Given the description of an element on the screen output the (x, y) to click on. 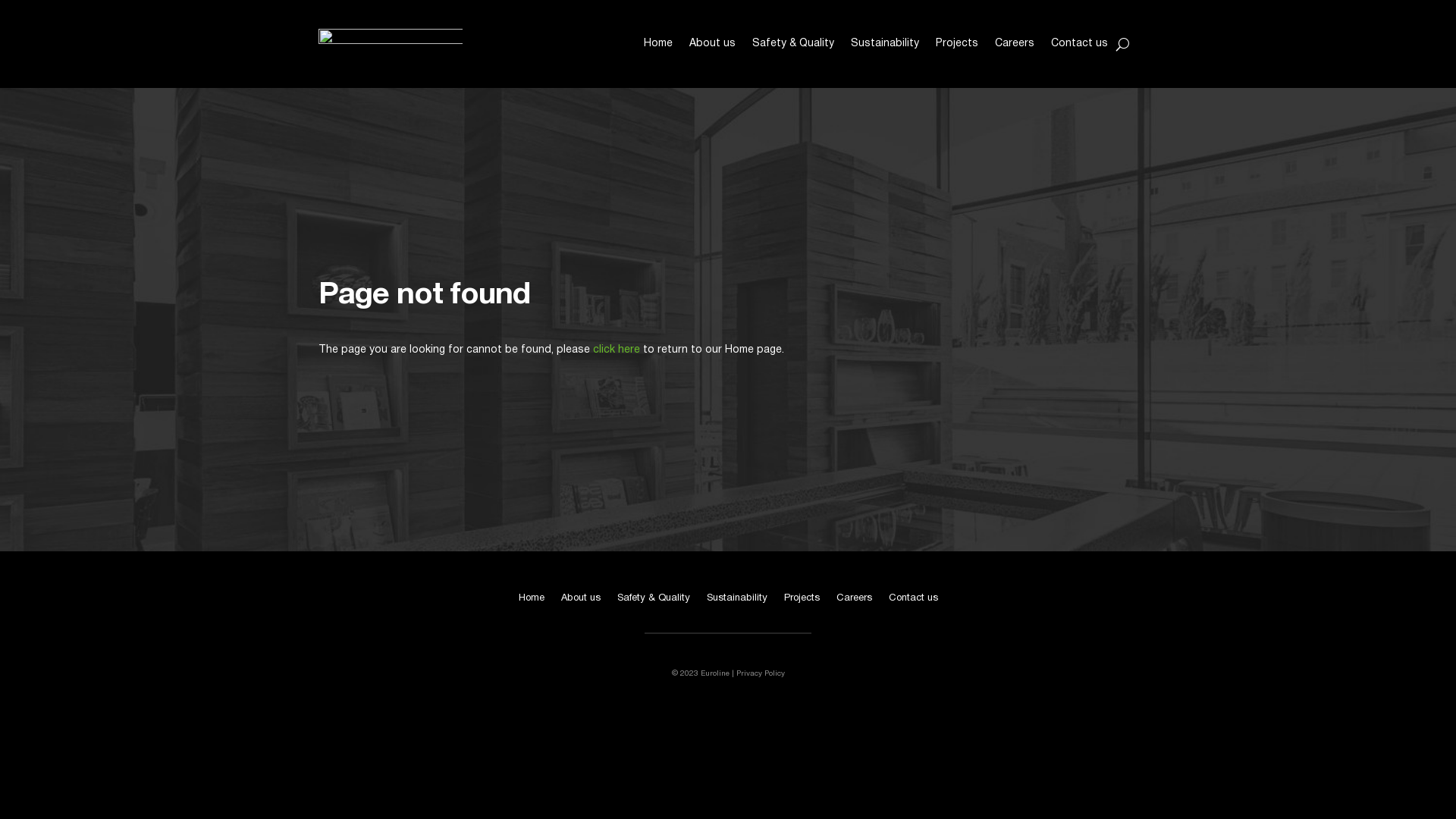
click here Element type: text (616, 349)
About us Element type: text (580, 601)
About us Element type: text (712, 43)
Projects Element type: text (956, 43)
Careers Element type: text (853, 601)
Projects Element type: text (801, 601)
Home Element type: text (657, 43)
Safety & Quality Element type: text (793, 43)
Contact us Element type: text (913, 601)
Contact us Element type: text (1079, 43)
Sustainability Element type: text (736, 601)
Careers Element type: text (1014, 43)
Home Element type: text (531, 601)
Sustainability Element type: text (884, 43)
Safety & Quality Element type: text (653, 601)
Privacy Policy Element type: text (759, 673)
